Given the description of an element on the screen output the (x, y) to click on. 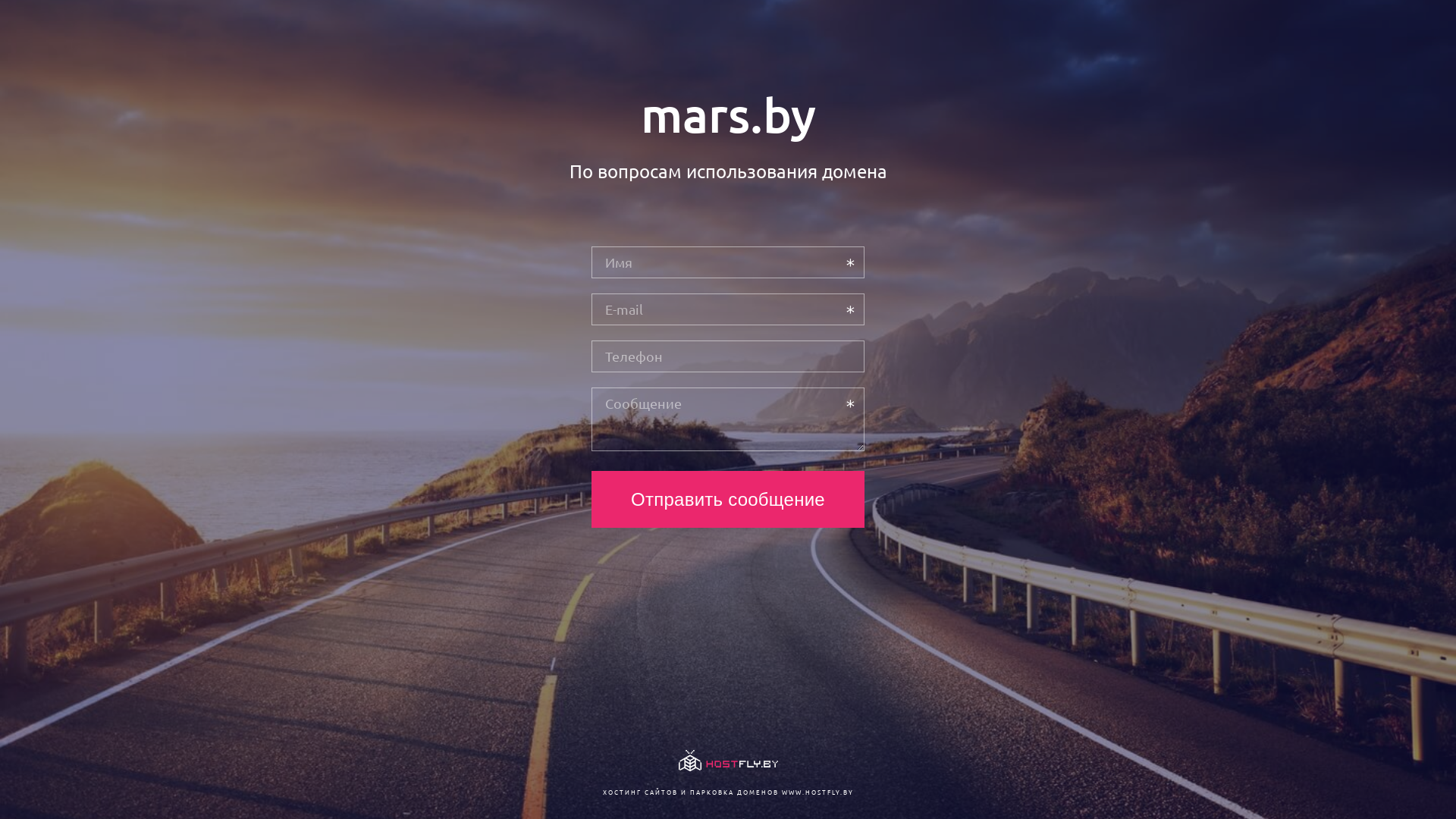
WWW.HOSTFLY.BY Element type: text (817, 791)
